Given the description of an element on the screen output the (x, y) to click on. 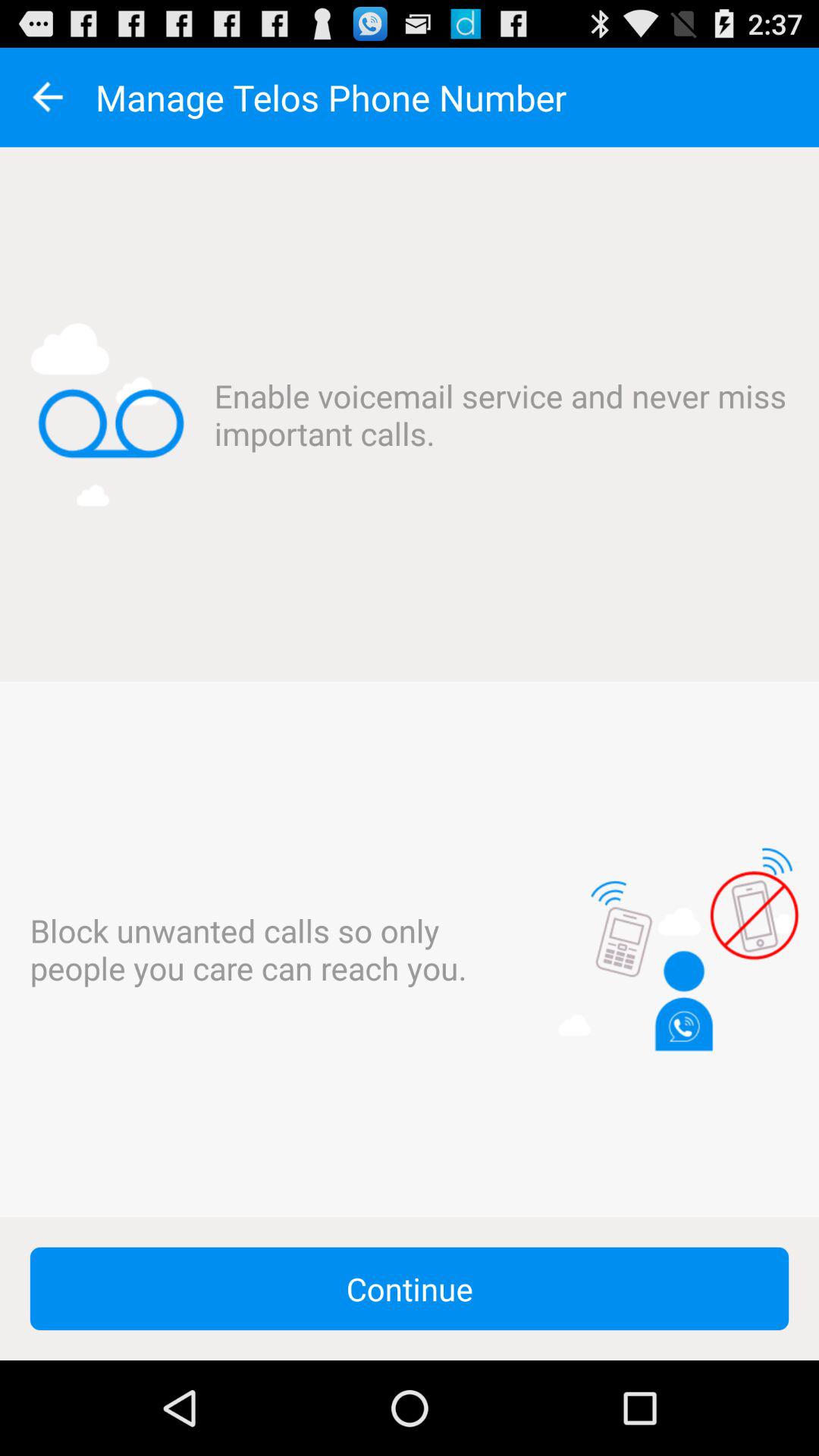
turn on continue at the bottom (409, 1288)
